Given the description of an element on the screen output the (x, y) to click on. 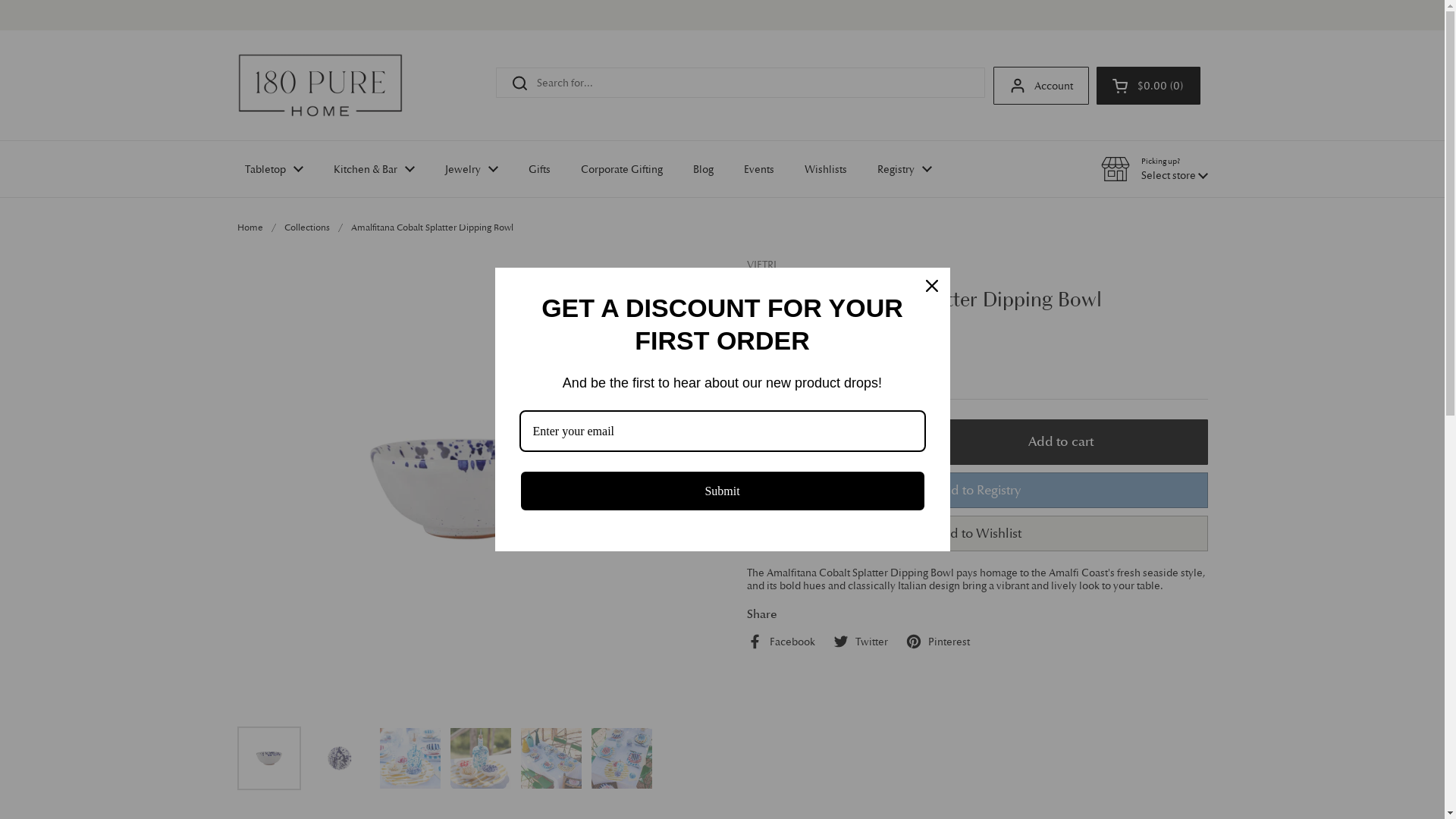
Collections Element type: text (306, 227)
Tabletop Element type: text (273, 168)
Wishlists Element type: text (824, 168)
Facebook Element type: text (780, 641)
Open cart
$0.00
0 Element type: text (1148, 85)
Account Element type: text (1040, 85)
Events Element type: text (758, 168)
Corporate Gifting Element type: text (621, 168)
Home Element type: text (249, 227)
180 Pure Home Element type: hover (319, 85)
Kitchen & Bar Element type: text (373, 168)
Gifts Element type: text (538, 168)
Registry Element type: text (903, 168)
Blog Element type: text (702, 168)
Skip to content Element type: text (0, 0)
Twitter Element type: text (860, 641)
Jewelry Element type: text (470, 168)
Pinterest Element type: text (937, 641)
Submit Element type: text (721, 490)
Add to cart Element type: text (1060, 441)
